Given the description of an element on the screen output the (x, y) to click on. 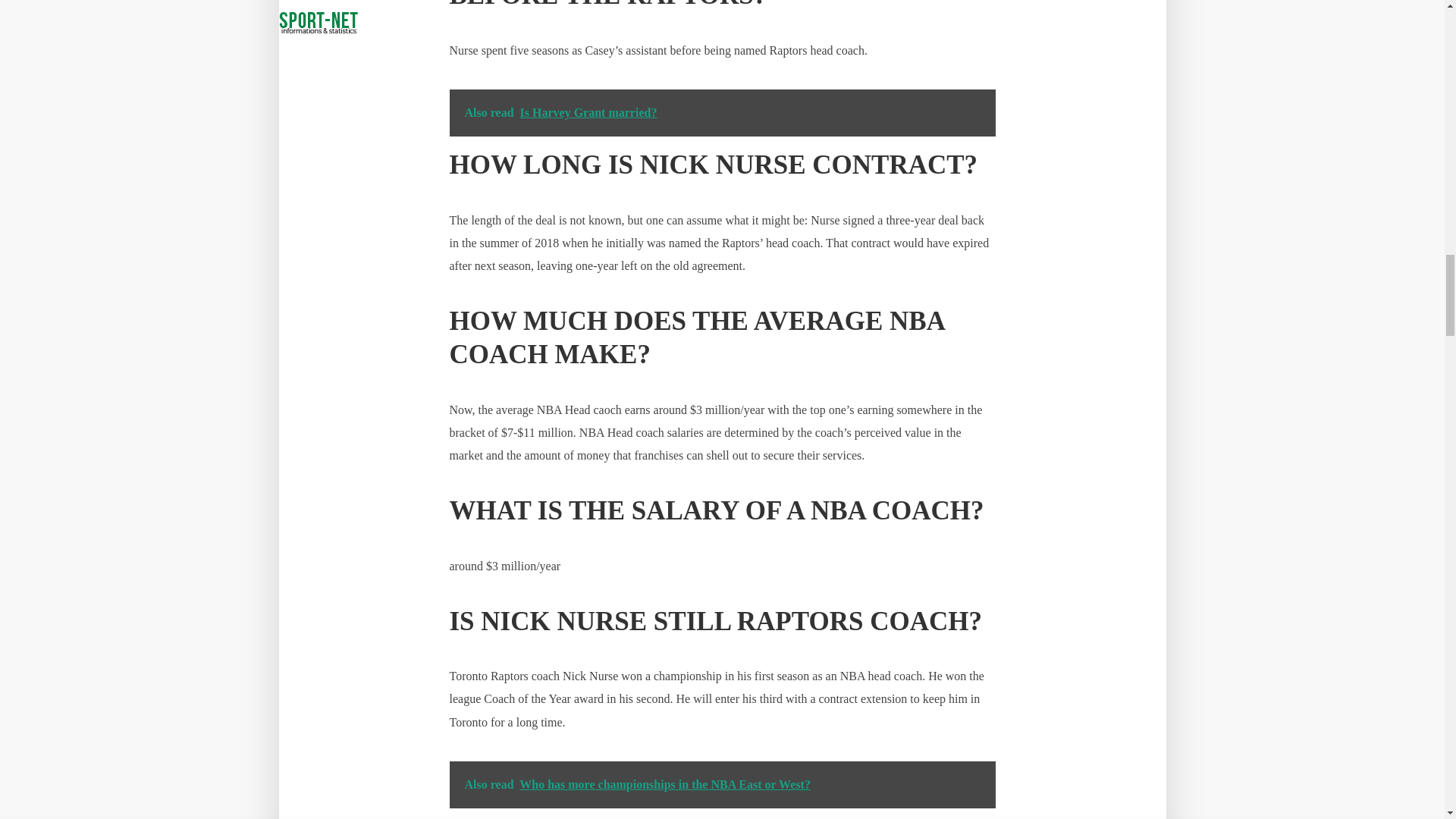
Also read  Is Harvey Grant married? (721, 112)
